Given the description of an element on the screen output the (x, y) to click on. 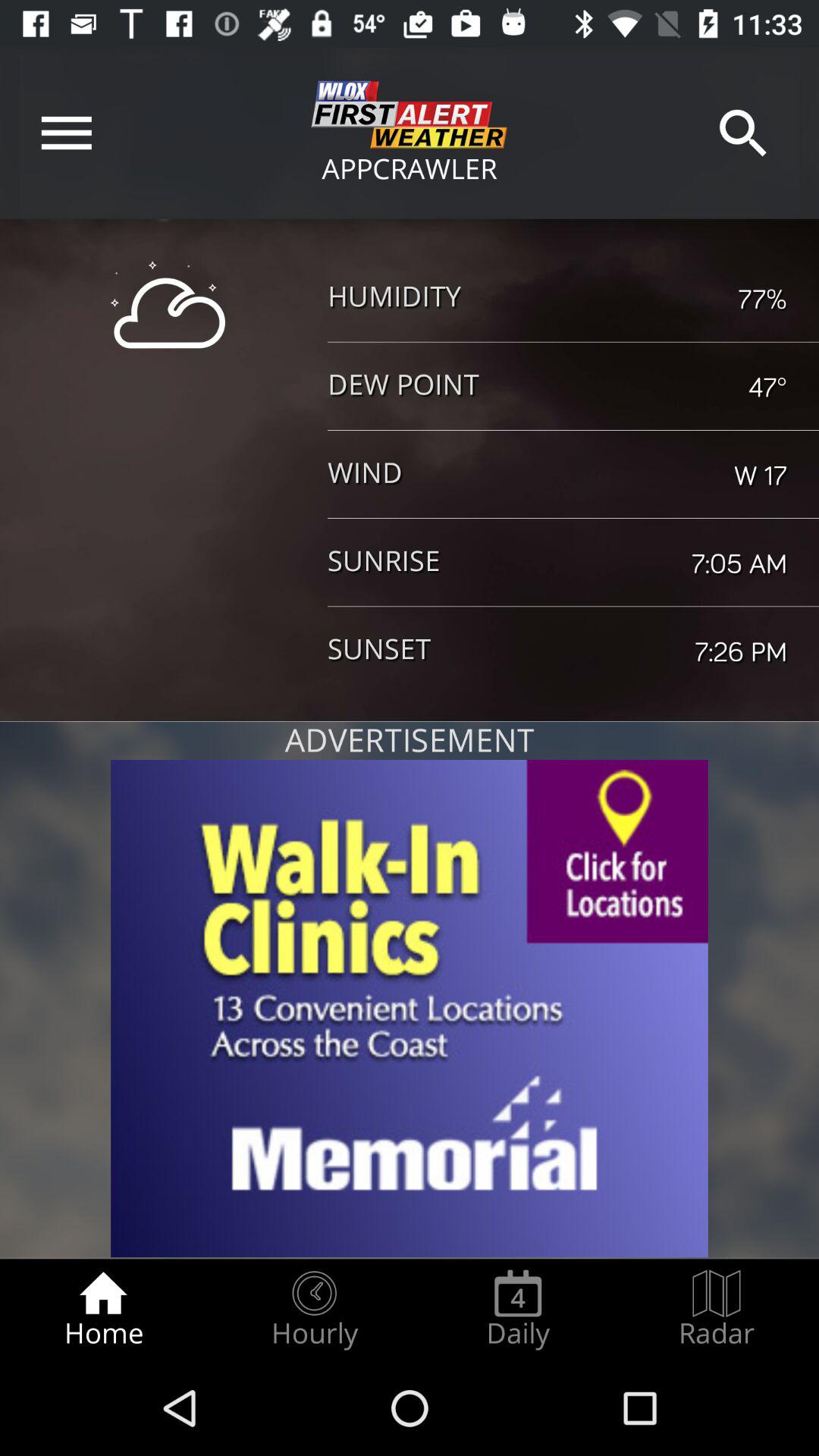
launch home at the bottom left corner (103, 1309)
